Given the description of an element on the screen output the (x, y) to click on. 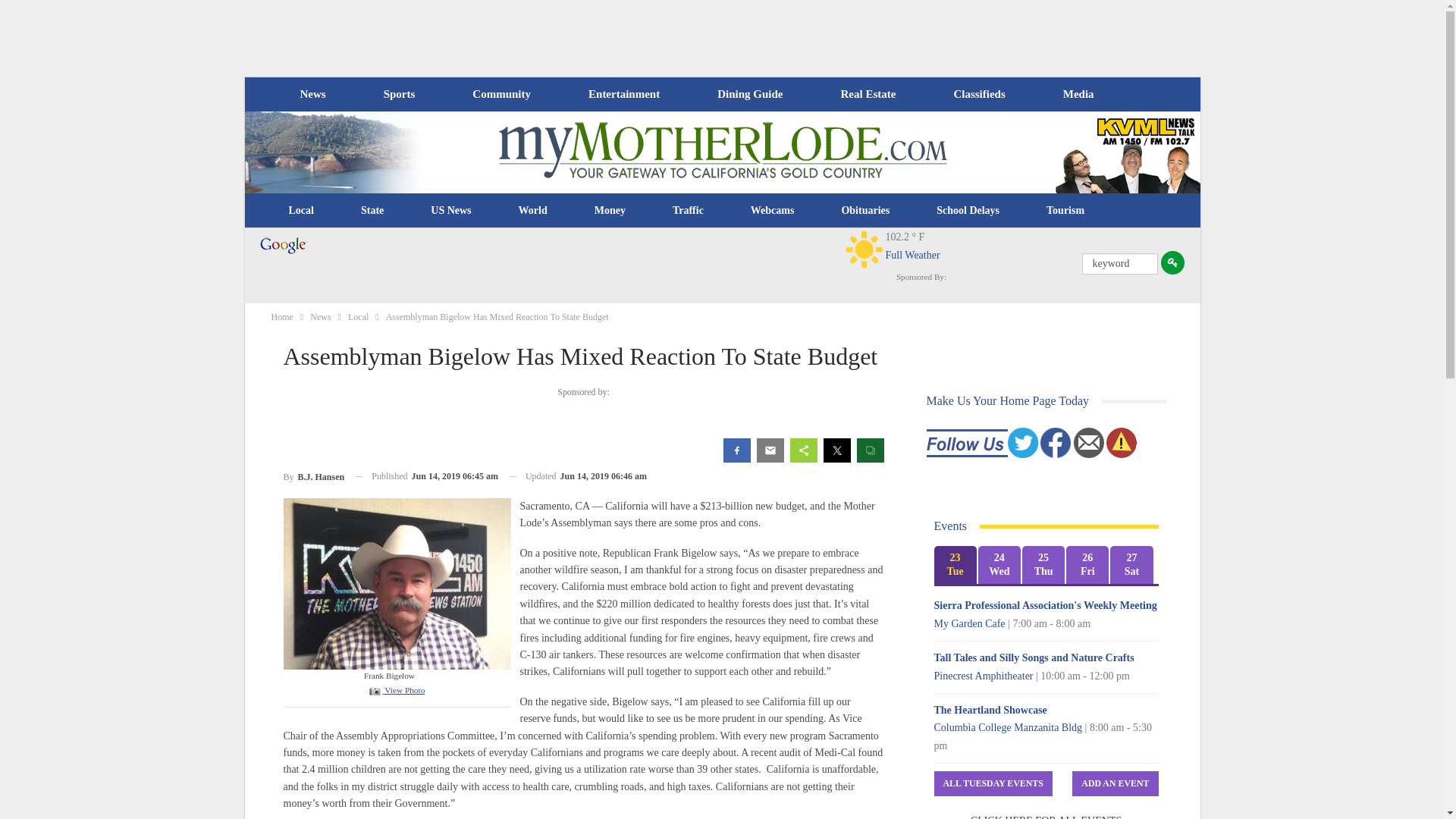
News (312, 93)
Entertainment (624, 93)
All Tuesday Events (993, 783)
Sports (399, 93)
Submit (1172, 262)
School Delays (967, 210)
Obituaries (865, 210)
Community (501, 93)
Clear (864, 249)
Tourism (1065, 210)
US News (451, 210)
Dining Guide (749, 93)
Media (1078, 93)
